Given the description of an element on the screen output the (x, y) to click on. 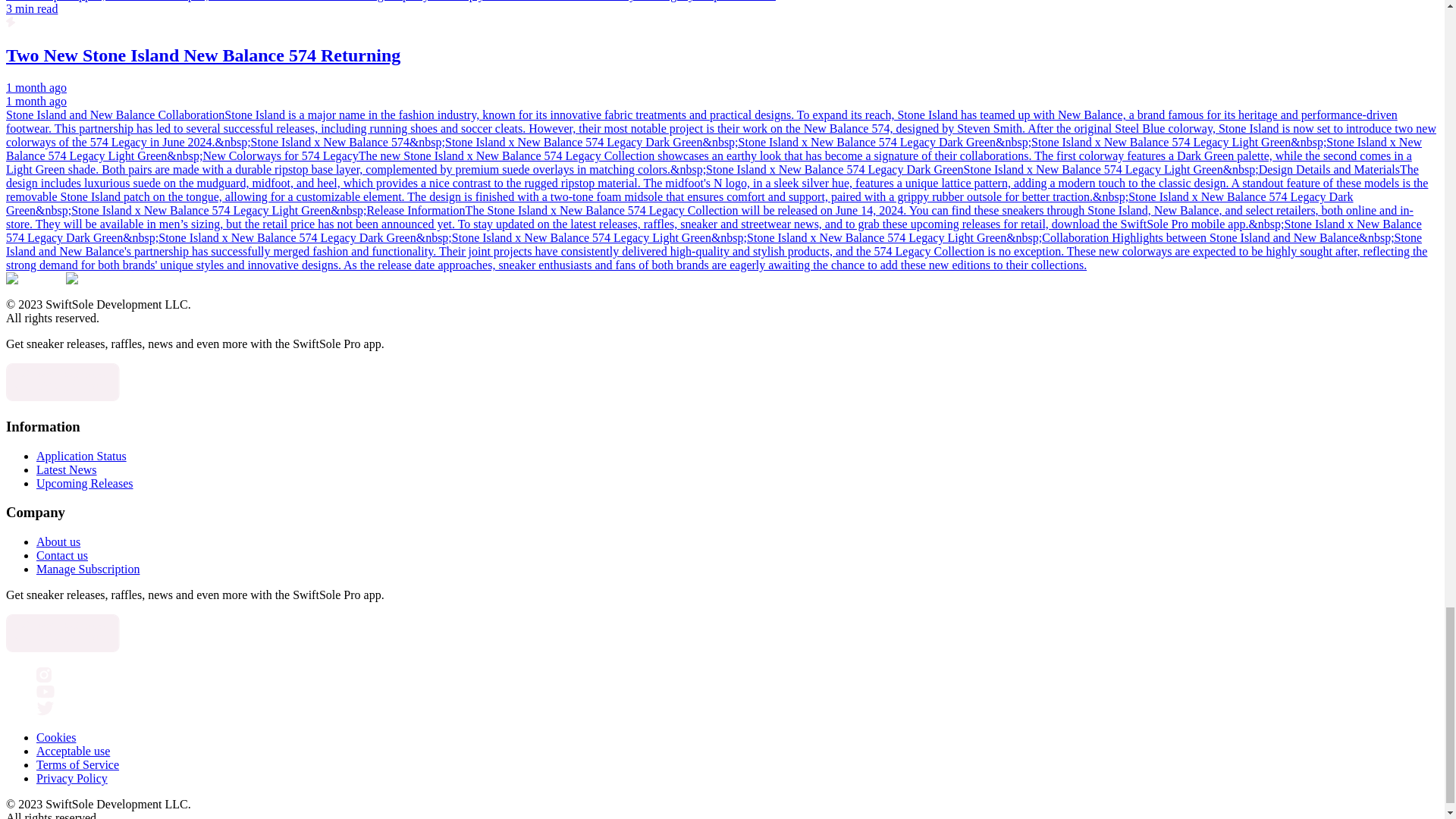
Contact us (61, 554)
Latest News (66, 469)
Application Status (81, 455)
Upcoming Releases (84, 482)
About us (58, 541)
Manage Subscription (87, 568)
